Given the description of an element on the screen output the (x, y) to click on. 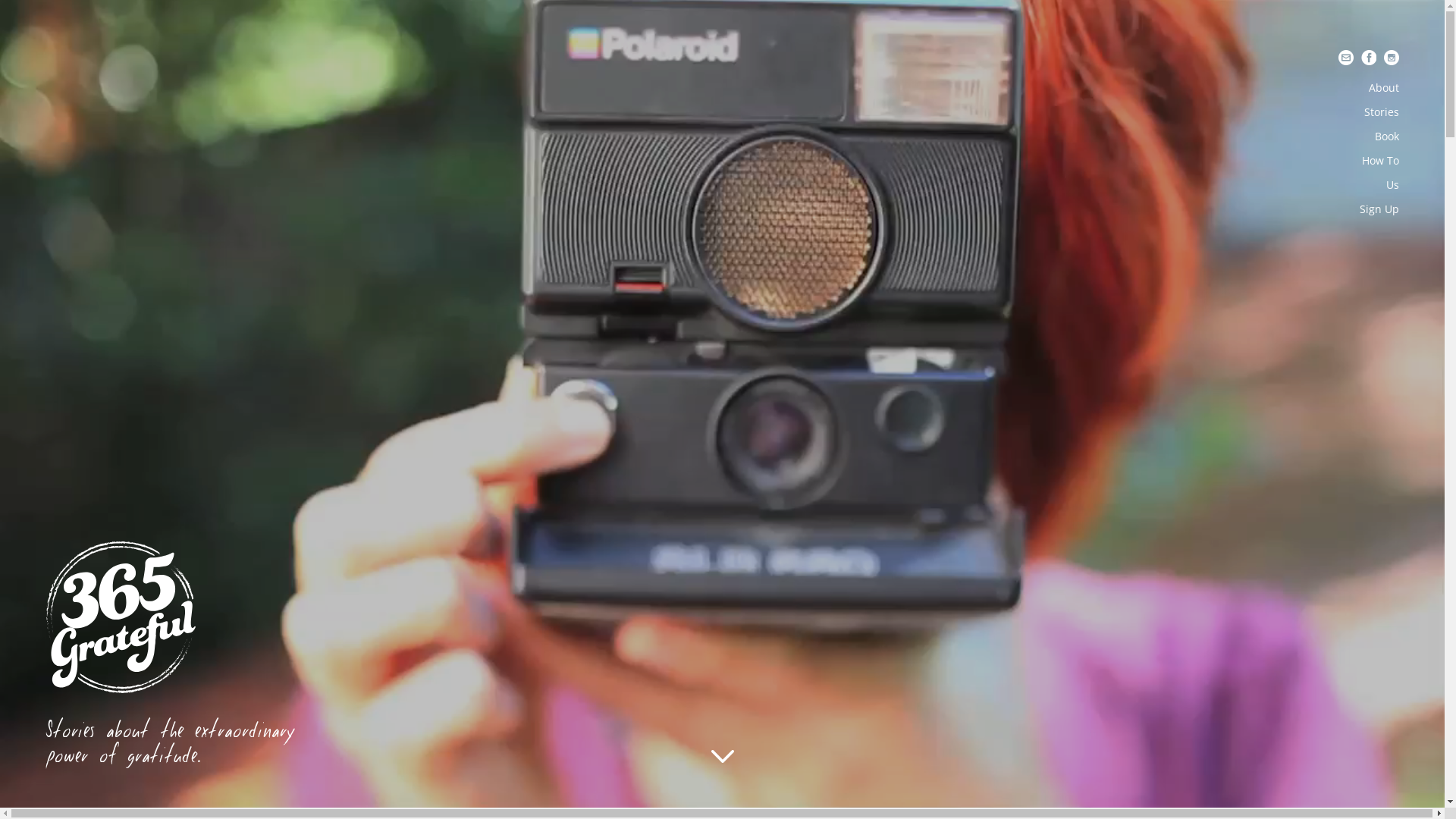
Us Element type: text (1392, 184)
Contact Element type: text (1345, 57)
About Element type: text (1383, 87)
How To Element type: text (1380, 160)
Stories Element type: text (1381, 111)
365 Grateful Element type: text (120, 617)
Sign Up Element type: text (1379, 208)
Instagram Element type: text (1391, 57)
Facebook Element type: text (1368, 57)
Book Element type: text (1386, 135)
